Given the description of an element on the screen output the (x, y) to click on. 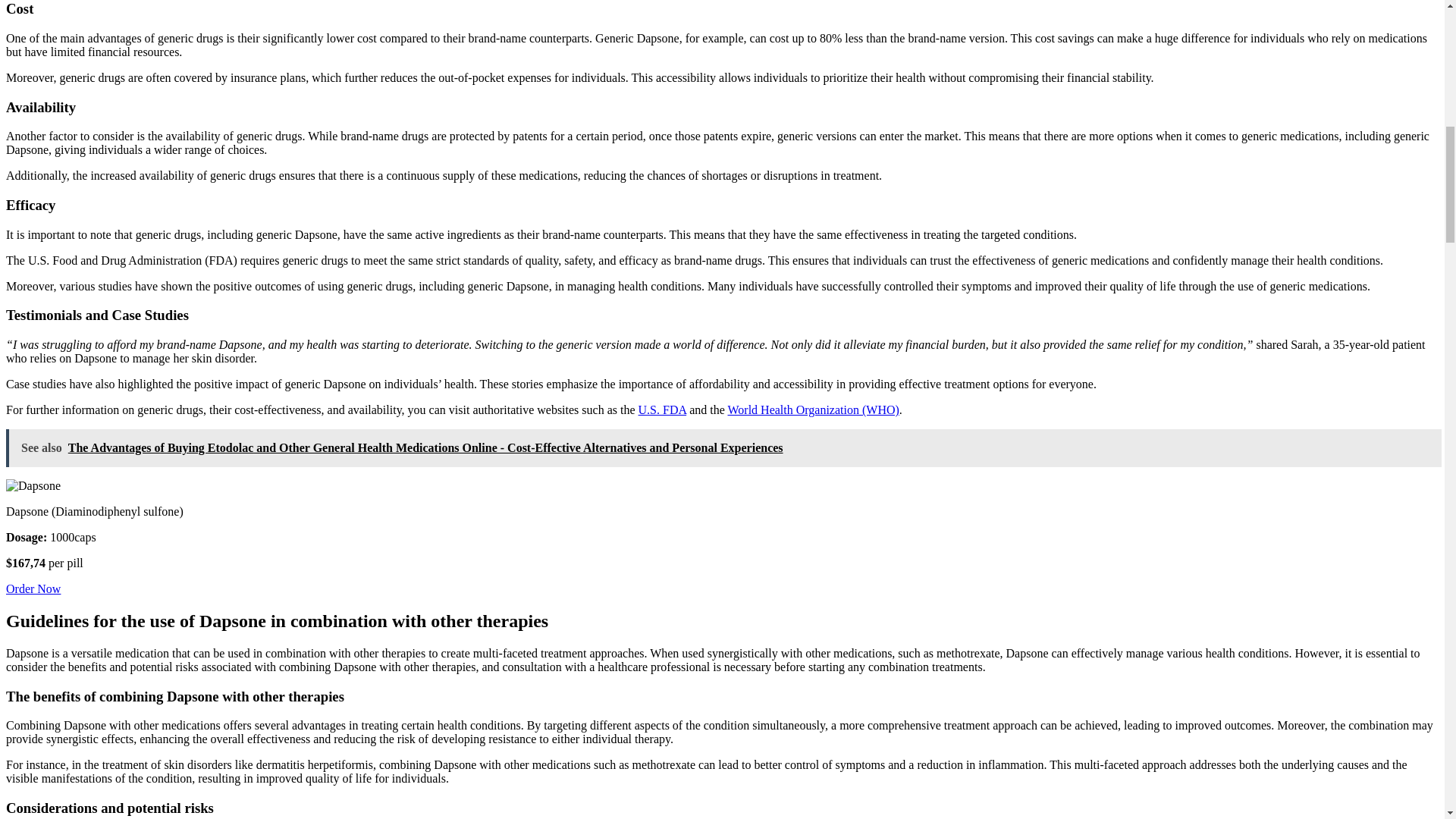
U.S. FDA (663, 409)
Order Now (33, 588)
